Given the description of an element on the screen output the (x, y) to click on. 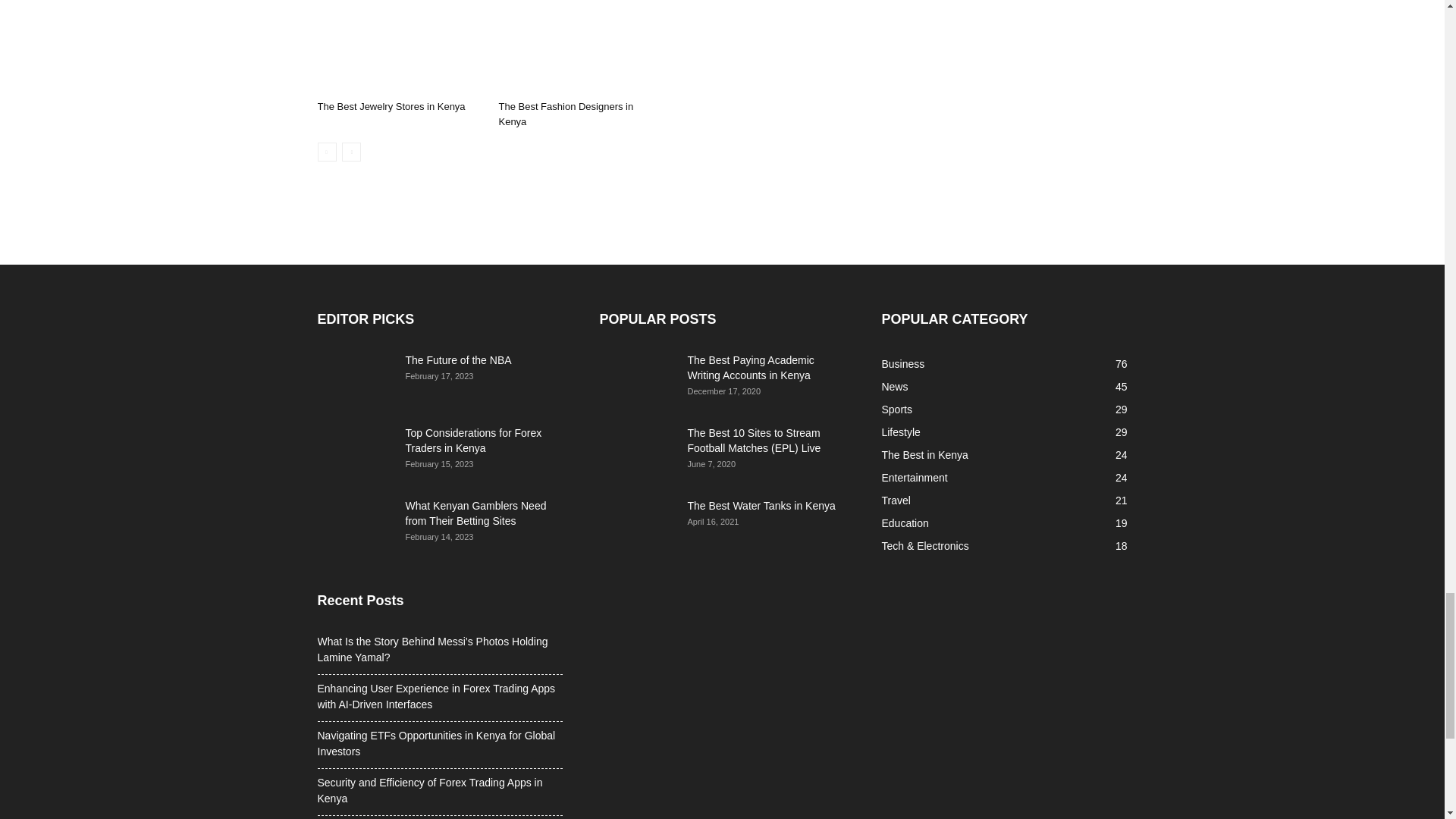
The Best Jewelry Stores in Kenya (390, 106)
The Best Jewelry Stores in Kenya (399, 47)
